Given the description of an element on the screen output the (x, y) to click on. 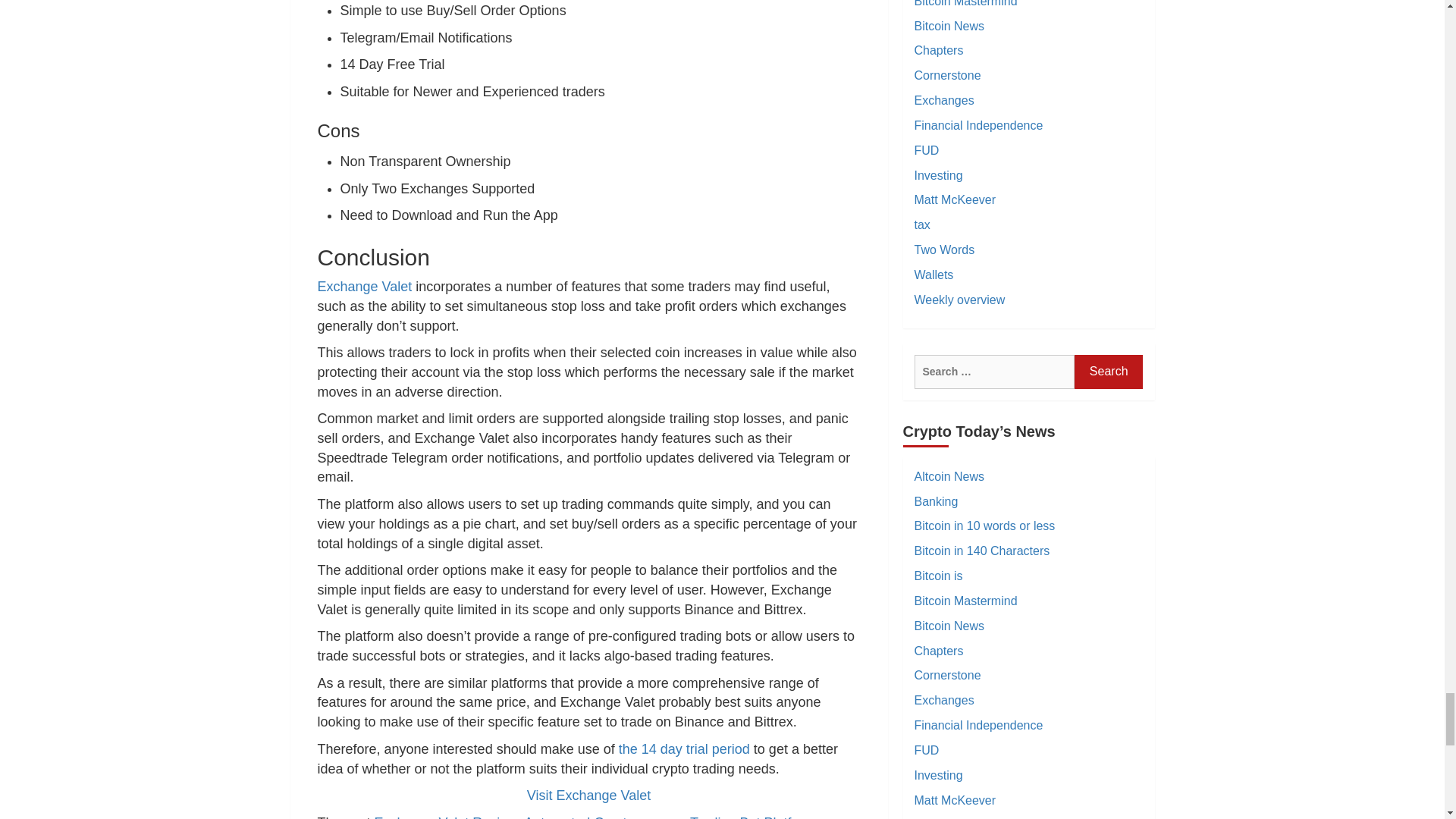
Exchange Valet (364, 286)
Visit Exchange Valet (588, 795)
the 14 day trial period (683, 749)
